Given the description of an element on the screen output the (x, y) to click on. 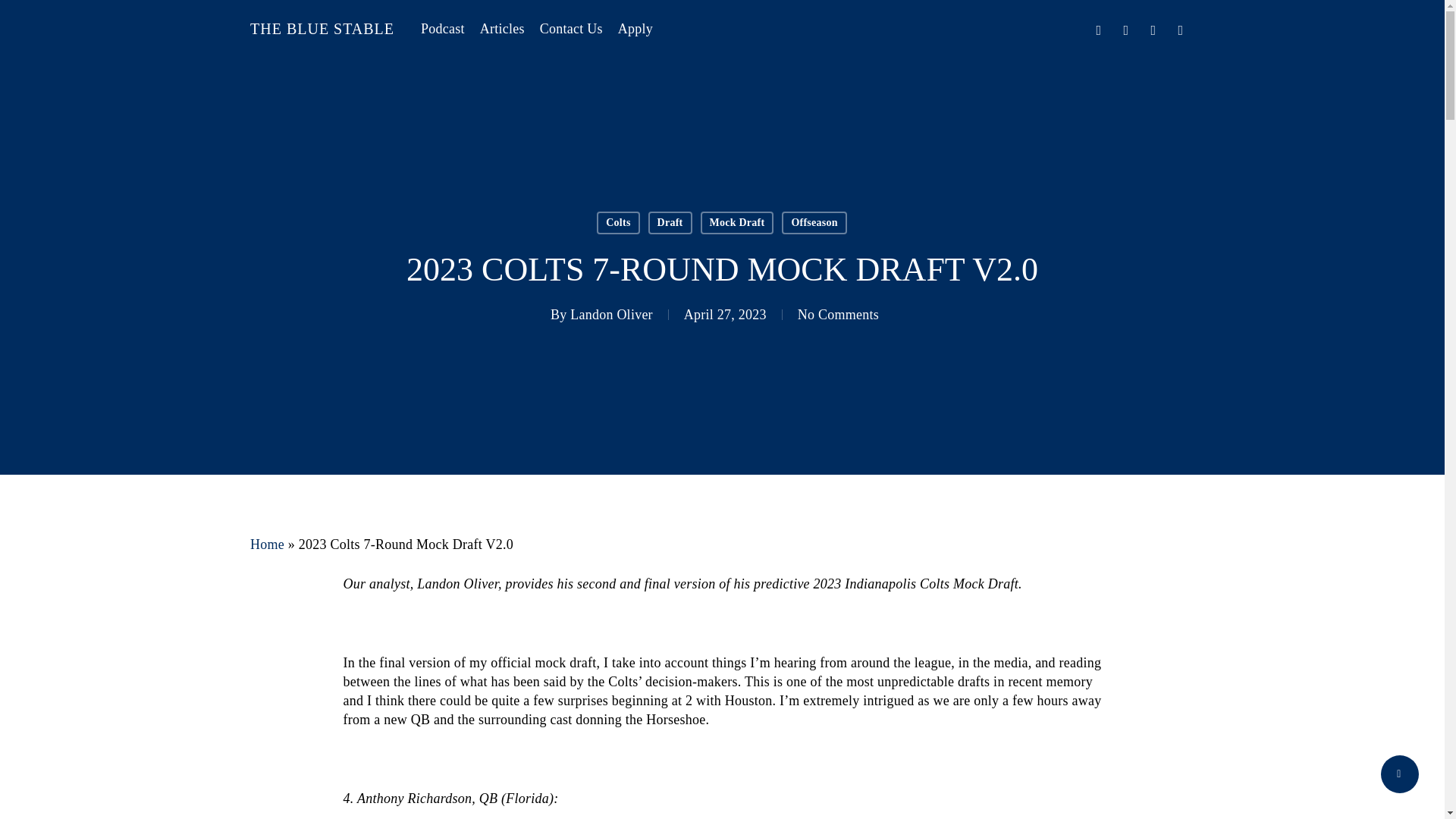
Podcast (442, 29)
Apply (634, 29)
Posts by Landon Oliver (611, 314)
Mock Draft (737, 222)
instagram (1180, 28)
Offseason (813, 222)
Draft (670, 222)
Contact Us (571, 29)
No Comments (838, 314)
Home (266, 544)
Landon Oliver (611, 314)
Colts (617, 222)
facebook (1126, 28)
Articles (502, 29)
twitter (1098, 28)
